Given the description of an element on the screen output the (x, y) to click on. 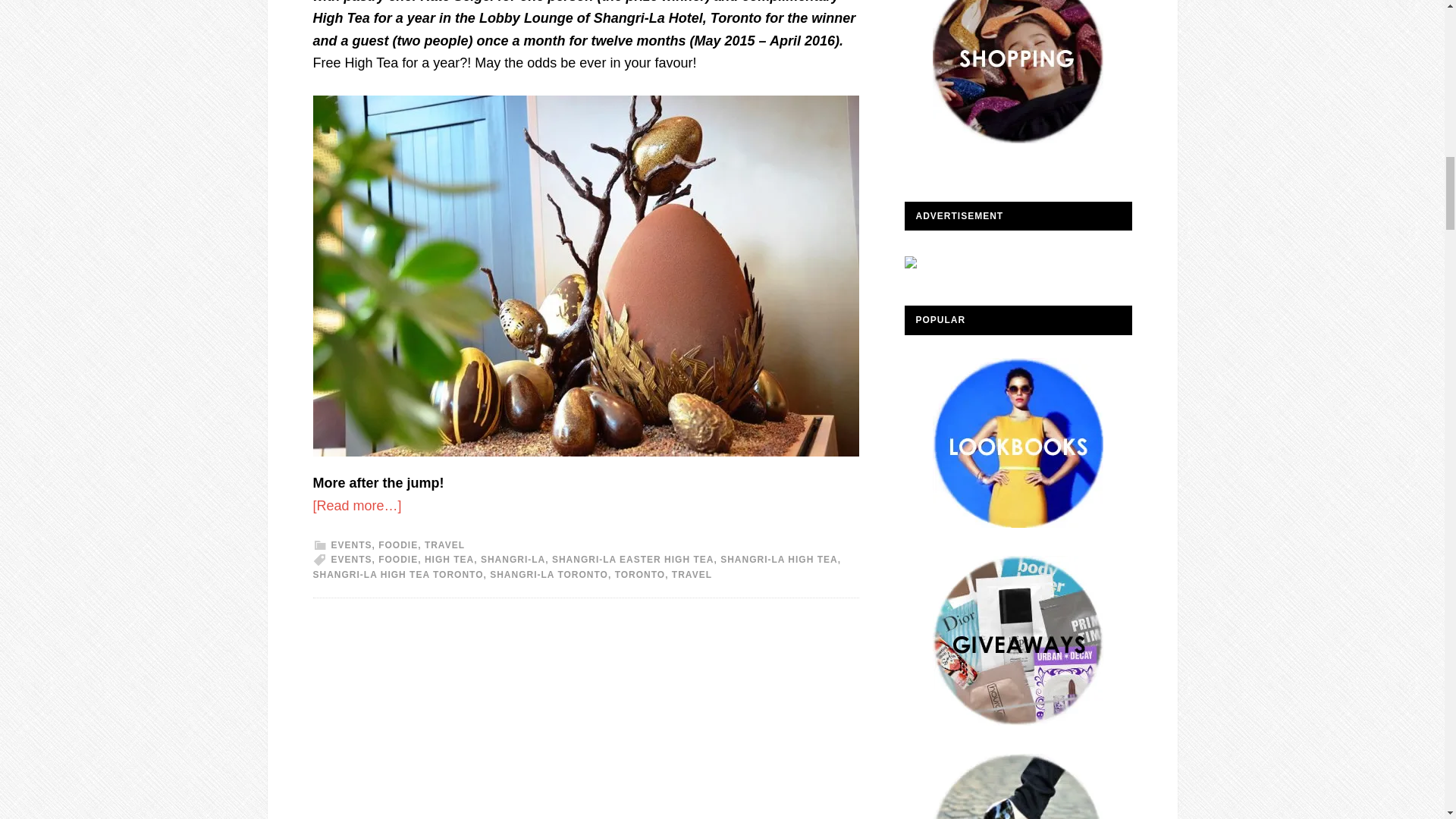
FOODIE (397, 544)
SHANGRI-LA (512, 559)
SHANGRI-LA HIGH TEA (779, 559)
TORONTO (639, 574)
HIGH TEA (449, 559)
SHANGRI-LA HIGH TEA TORONTO (398, 574)
EVENTS (350, 559)
TRAVEL (444, 544)
SHANGRI-LA TORONTO (548, 574)
FOODIE (397, 559)
TRAVEL (691, 574)
EVENTS (350, 544)
SHANGRI-LA EASTER HIGH TEA (632, 559)
